Given the description of an element on the screen output the (x, y) to click on. 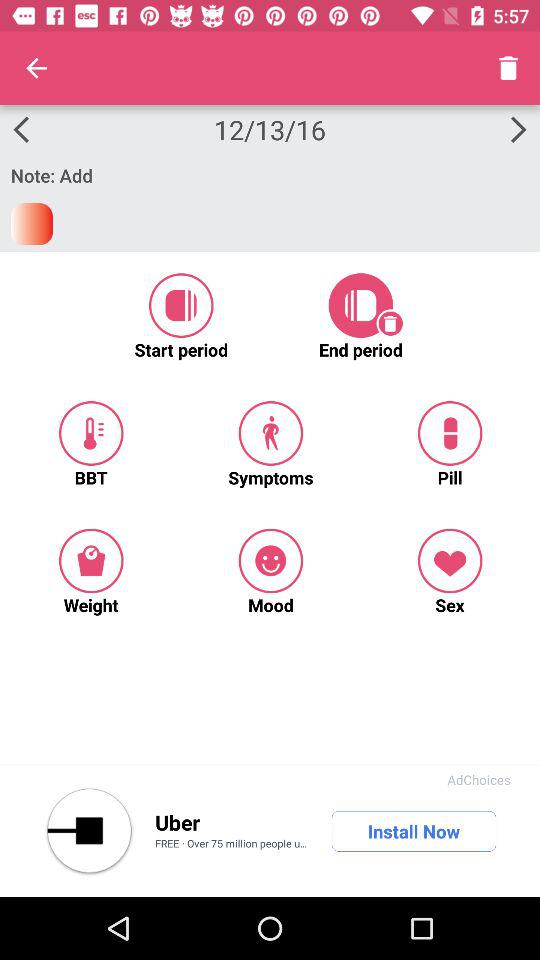
click item next to the 12/13/16 icon (36, 68)
